Given the description of an element on the screen output the (x, y) to click on. 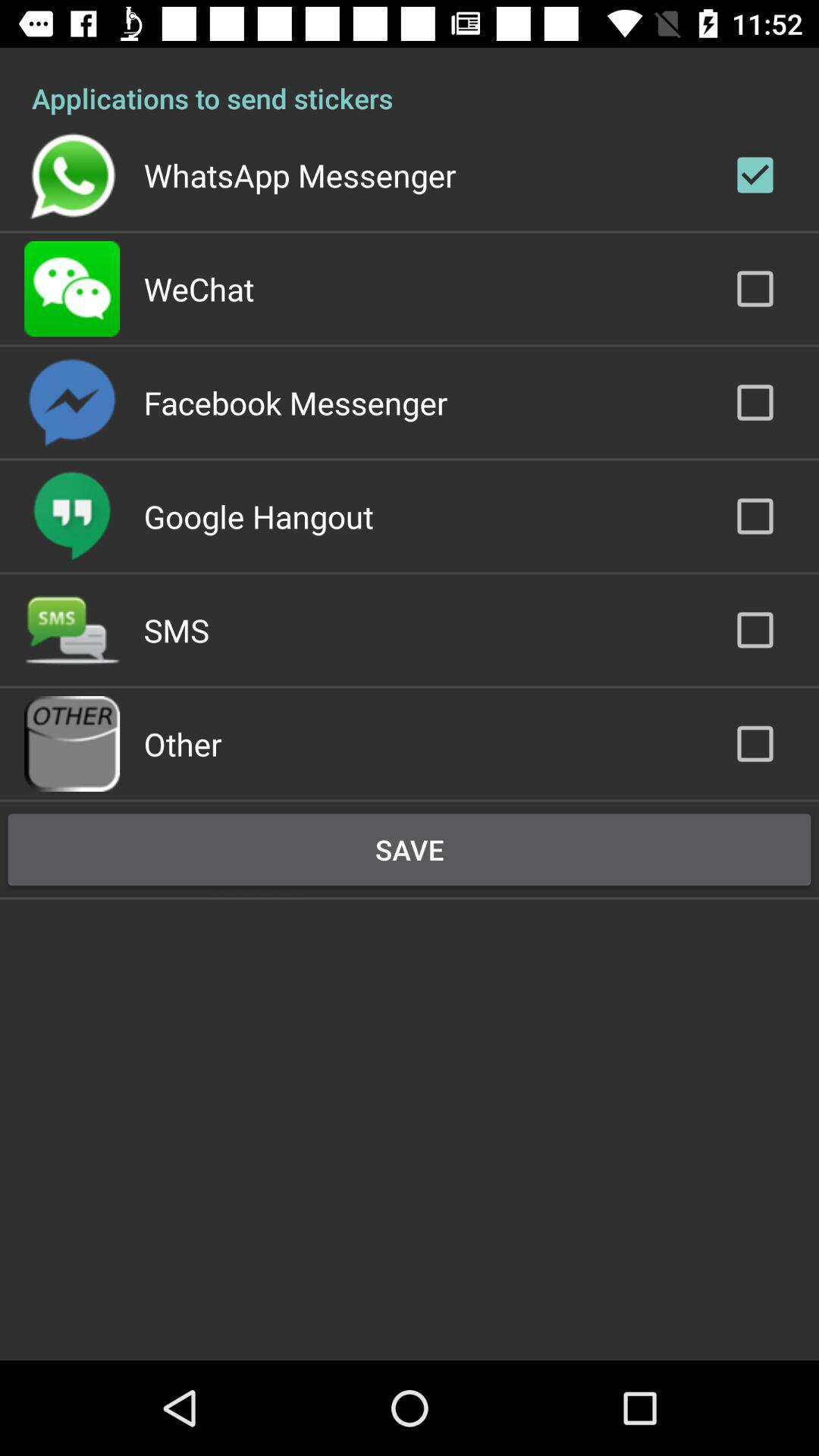
jump until applications to send icon (409, 82)
